Given the description of an element on the screen output the (x, y) to click on. 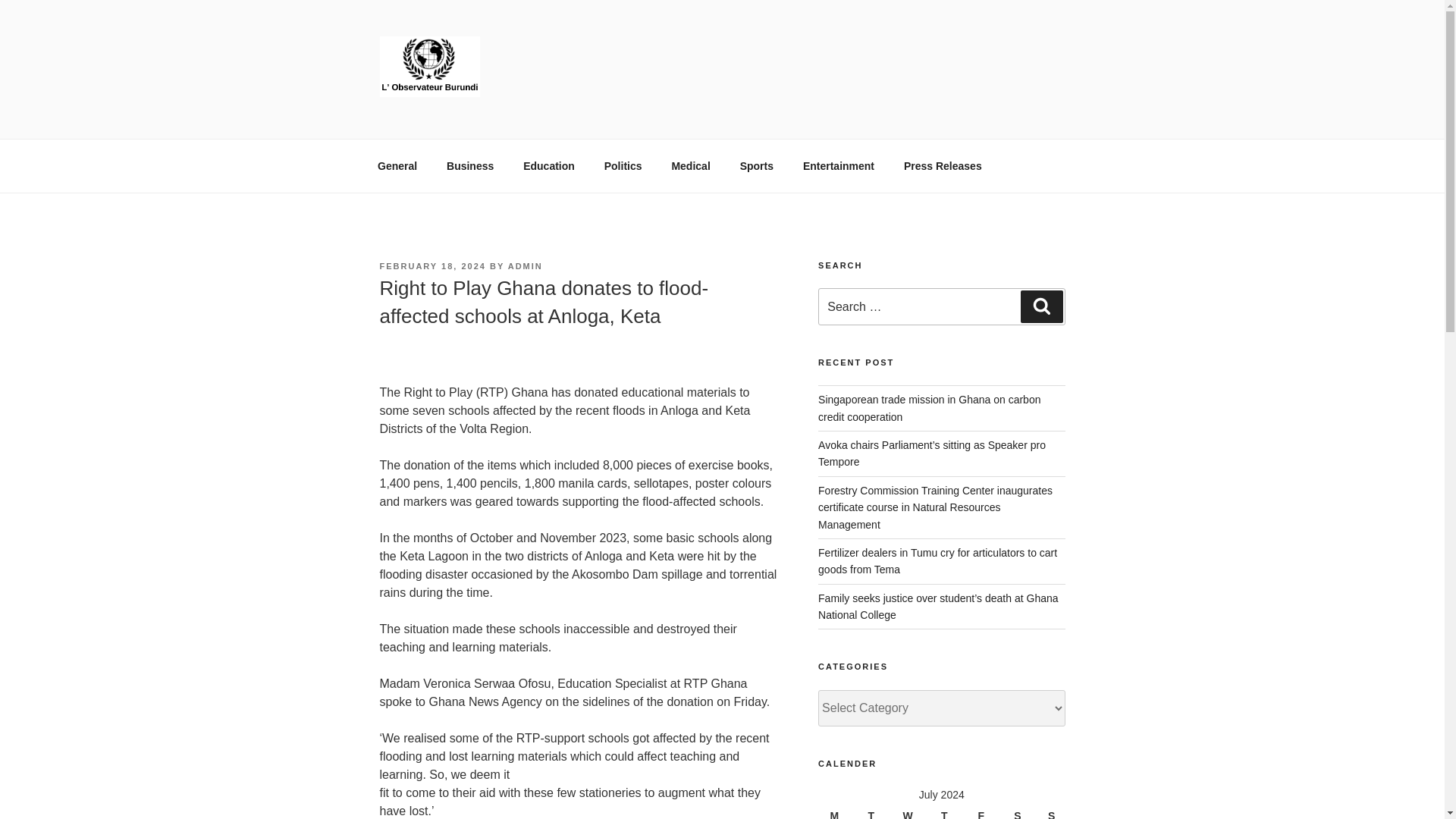
Entertainment (837, 165)
General (396, 165)
Press Releases (941, 165)
Business (469, 165)
Tuesday (872, 811)
ADMIN (525, 266)
Thursday (945, 811)
Sports (756, 165)
FEBRUARY 18, 2024 (431, 266)
Medical (690, 165)
Monday (836, 811)
Wednesday (909, 811)
